Given the description of an element on the screen output the (x, y) to click on. 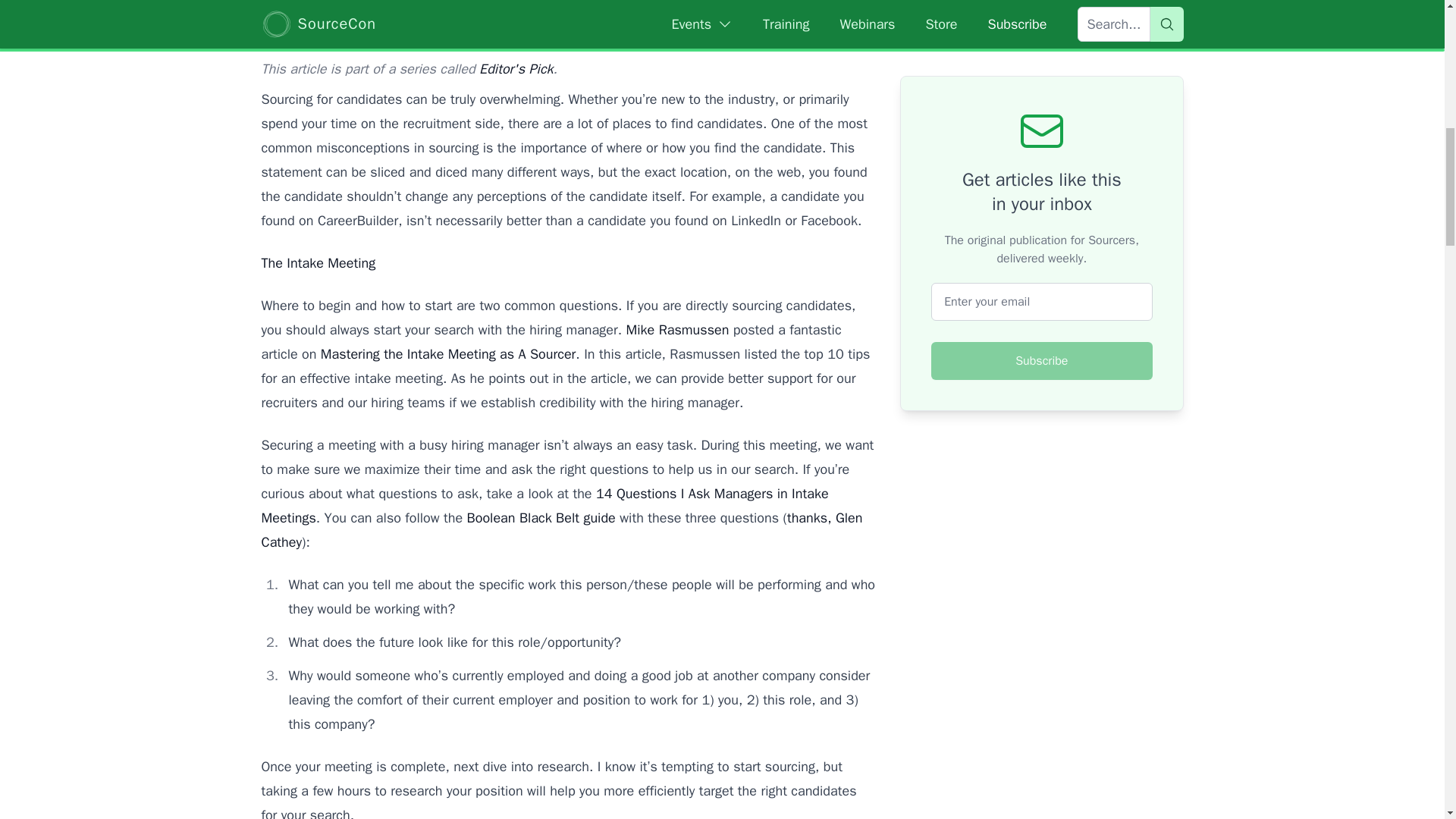
thanks, Glen Cathey (560, 529)
Boolean Black Belt guide (541, 517)
Mastering the Intake Meeting as A Sourcer (448, 353)
14 Questions I Ask Managers in Intake Meetings (544, 505)
Editor's Pick (516, 68)
Mike Rasmussen (677, 329)
